Given the description of an element on the screen output the (x, y) to click on. 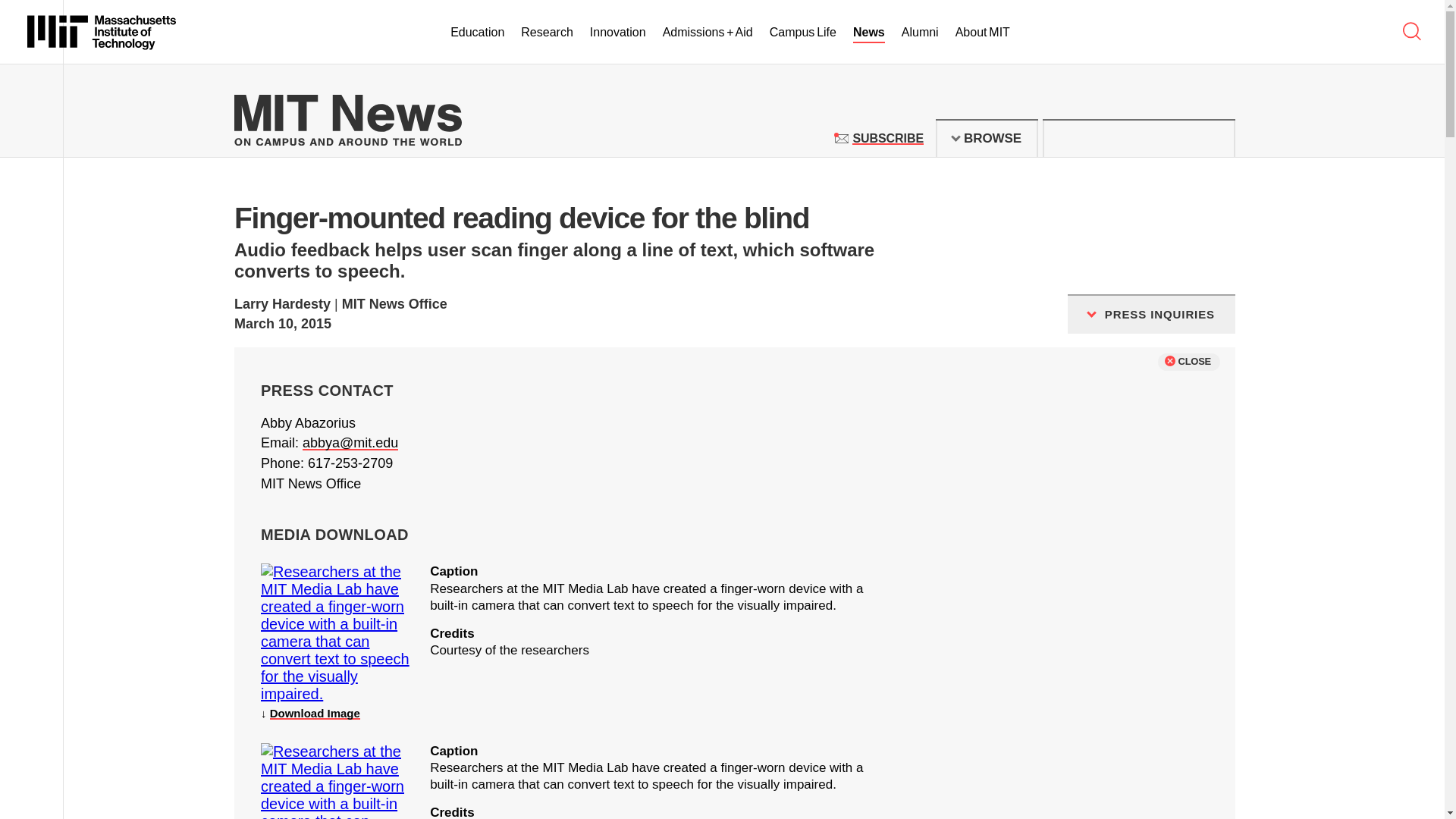
Campus Life (802, 32)
Massachusetts Institute of Technology (101, 32)
Submit (887, 137)
BROWSE (1214, 138)
